Given the description of an element on the screen output the (x, y) to click on. 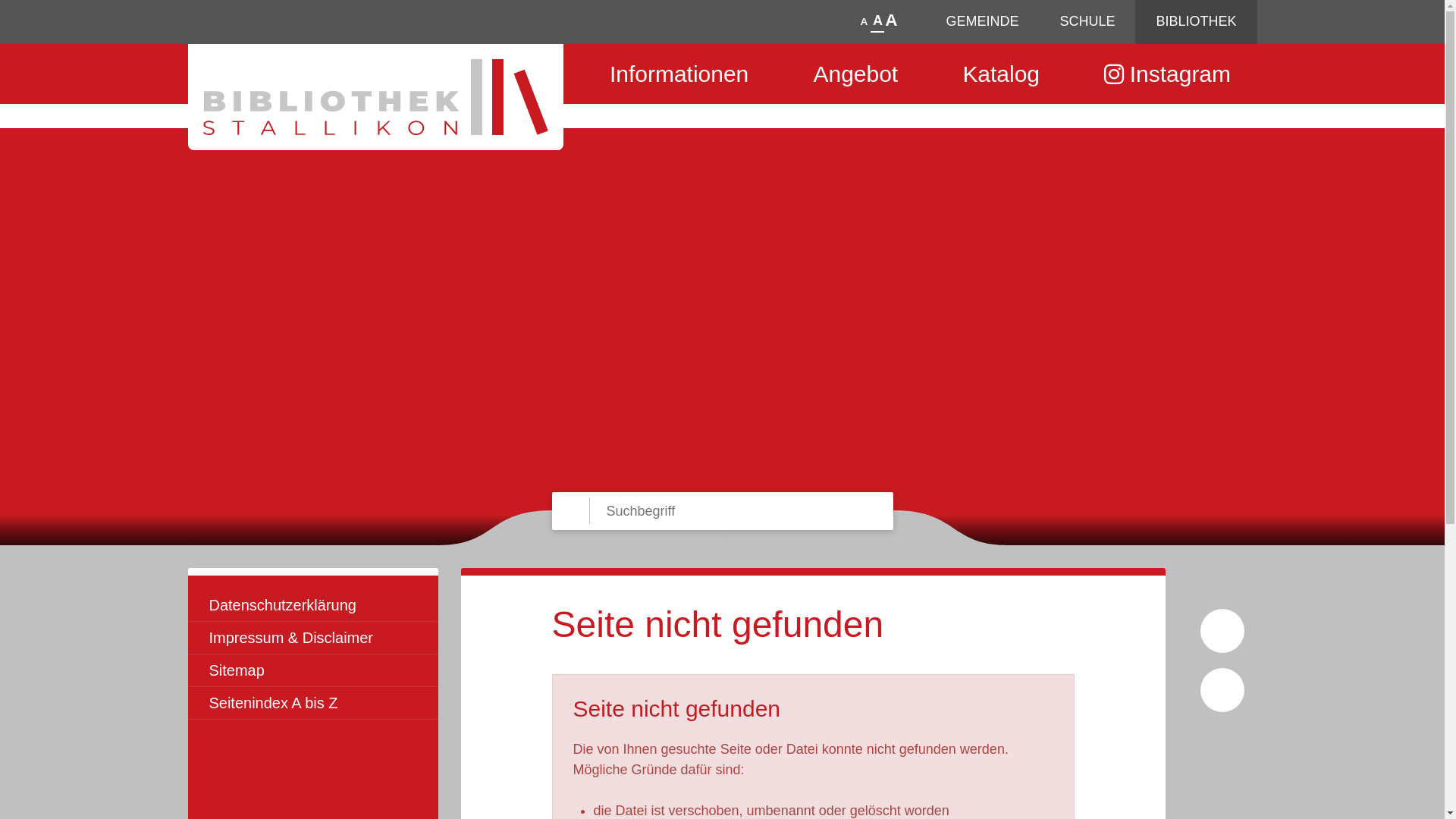
A Element type: text (890, 20)
Homepage Element type: hover (375, 96)
Sitemap Element type: text (313, 670)
Informationen Element type: text (679, 73)
A Element type: text (877, 20)
Facebook Element type: text (1222, 734)
A Element type: text (864, 21)
SCHULE Element type: text (1086, 21)
Seite als PDF Element type: text (1222, 630)
BIBLIOTHEK Element type: text (1195, 21)
teilen Element type: text (1222, 690)
Instagram Element type: text (1167, 73)
Katalog Element type: text (1001, 73)
Suche starten Element type: text (550, 491)
Twitter Element type: text (1222, 778)
Impressum & Disclaimer Element type: text (313, 637)
GEMEINDE Element type: text (981, 21)
Angebot Element type: text (855, 73)
Seitenindex A bis Z Element type: text (313, 703)
